Given the description of an element on the screen output the (x, y) to click on. 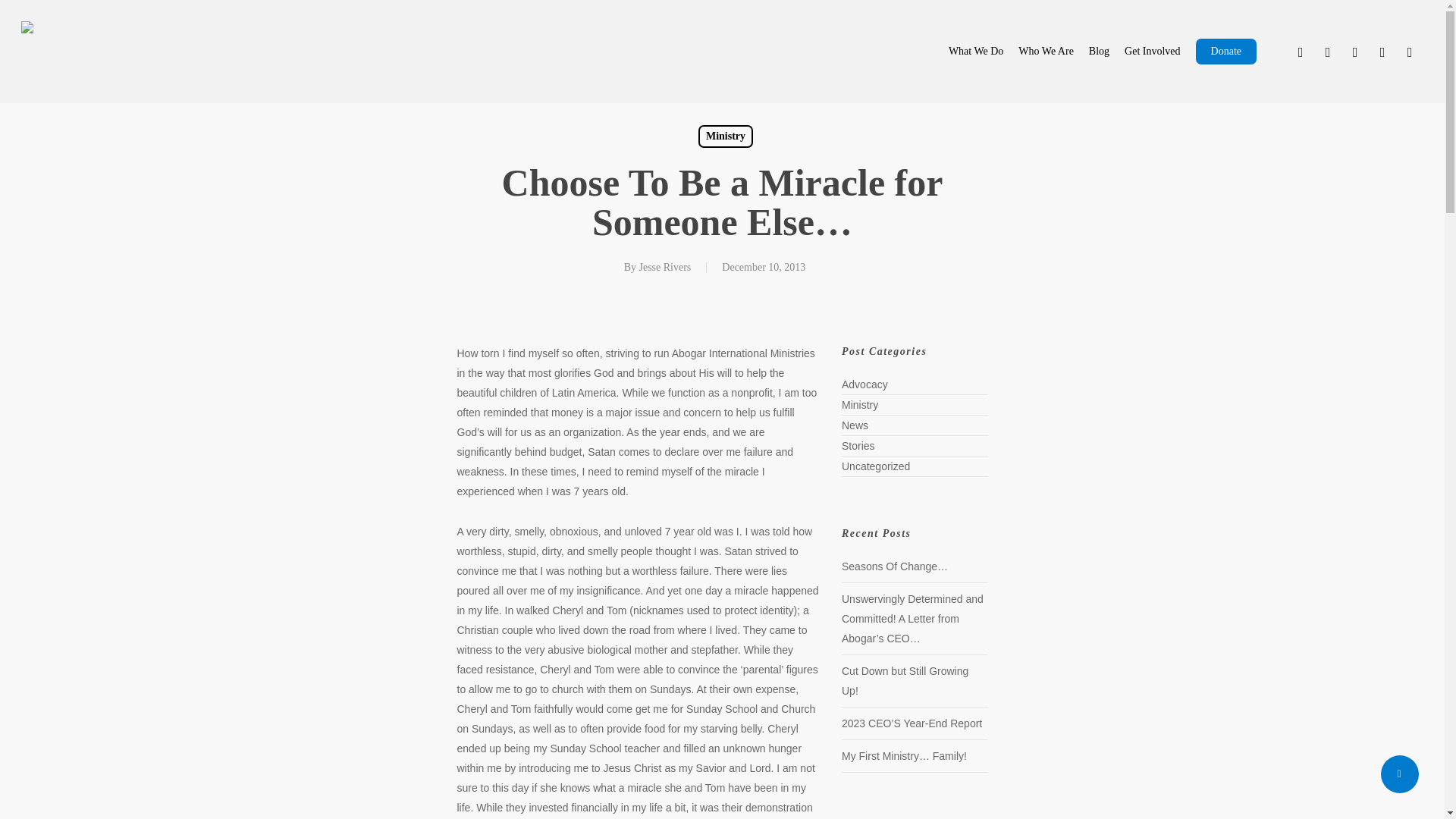
Stories (1063, 446)
Ministry (1063, 401)
Advocacy (1063, 378)
linkedin (1354, 51)
Uncategorized (1063, 469)
Get Involved (1136, 51)
News (1063, 423)
twitter (1300, 51)
whatsapp (1382, 51)
Donate (1221, 51)
facebook (1327, 51)
email (1409, 51)
What We Do (921, 51)
Posts by Jesse Rivers (660, 259)
Who We Are (1007, 51)
